Given the description of an element on the screen output the (x, y) to click on. 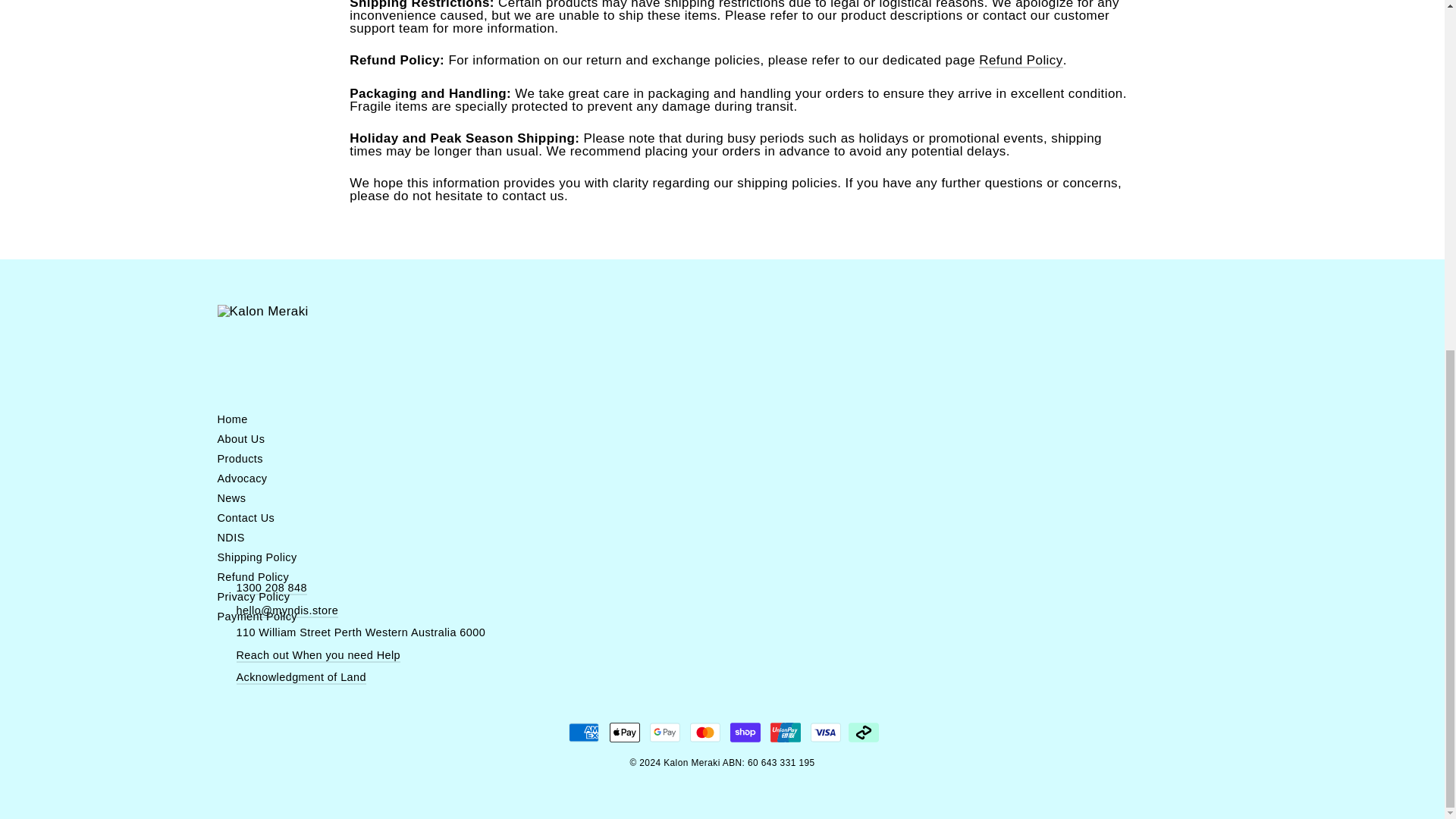
American Express (583, 732)
Afterpay (863, 732)
Google Pay (664, 732)
Mastercard (705, 732)
tel:0863112874 (271, 588)
Apple Pay (625, 732)
Visa (825, 732)
Refund Policy (1020, 60)
Union Pay (785, 732)
Shop Pay (745, 732)
